Given the description of an element on the screen output the (x, y) to click on. 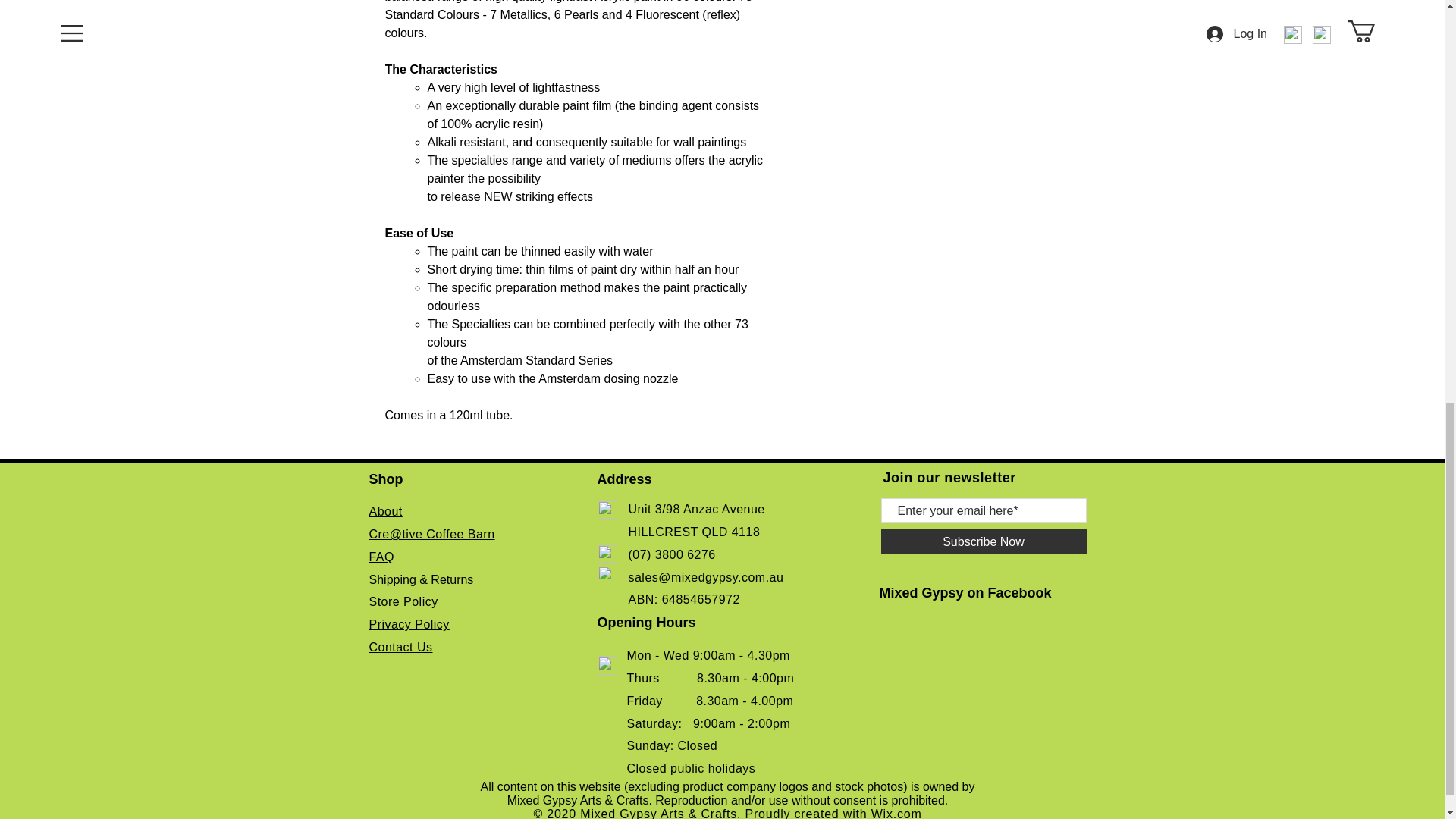
Store Policy (403, 601)
Subscribe Now (983, 541)
Wix.com (895, 813)
About (384, 511)
Contact Us (400, 646)
FAQ (380, 556)
Privacy Policy (408, 624)
